Given the description of an element on the screen output the (x, y) to click on. 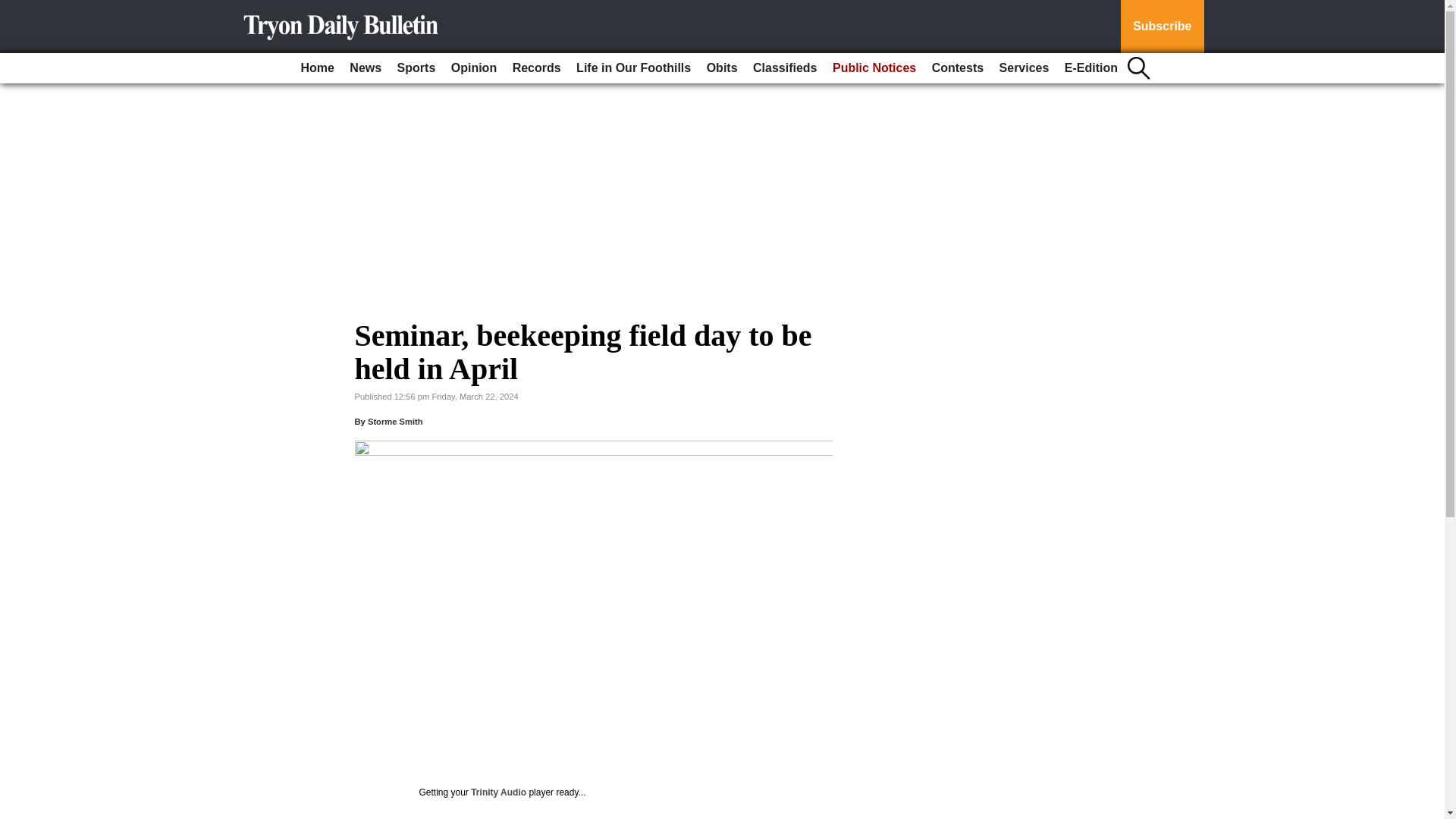
Obits (722, 68)
News (365, 68)
Go (13, 9)
Sports (416, 68)
Classifieds (784, 68)
Life in Our Foothills (633, 68)
Services (1023, 68)
E-Edition (1091, 68)
Subscribe (1162, 26)
Trinity Audio (497, 792)
